Given the description of an element on the screen output the (x, y) to click on. 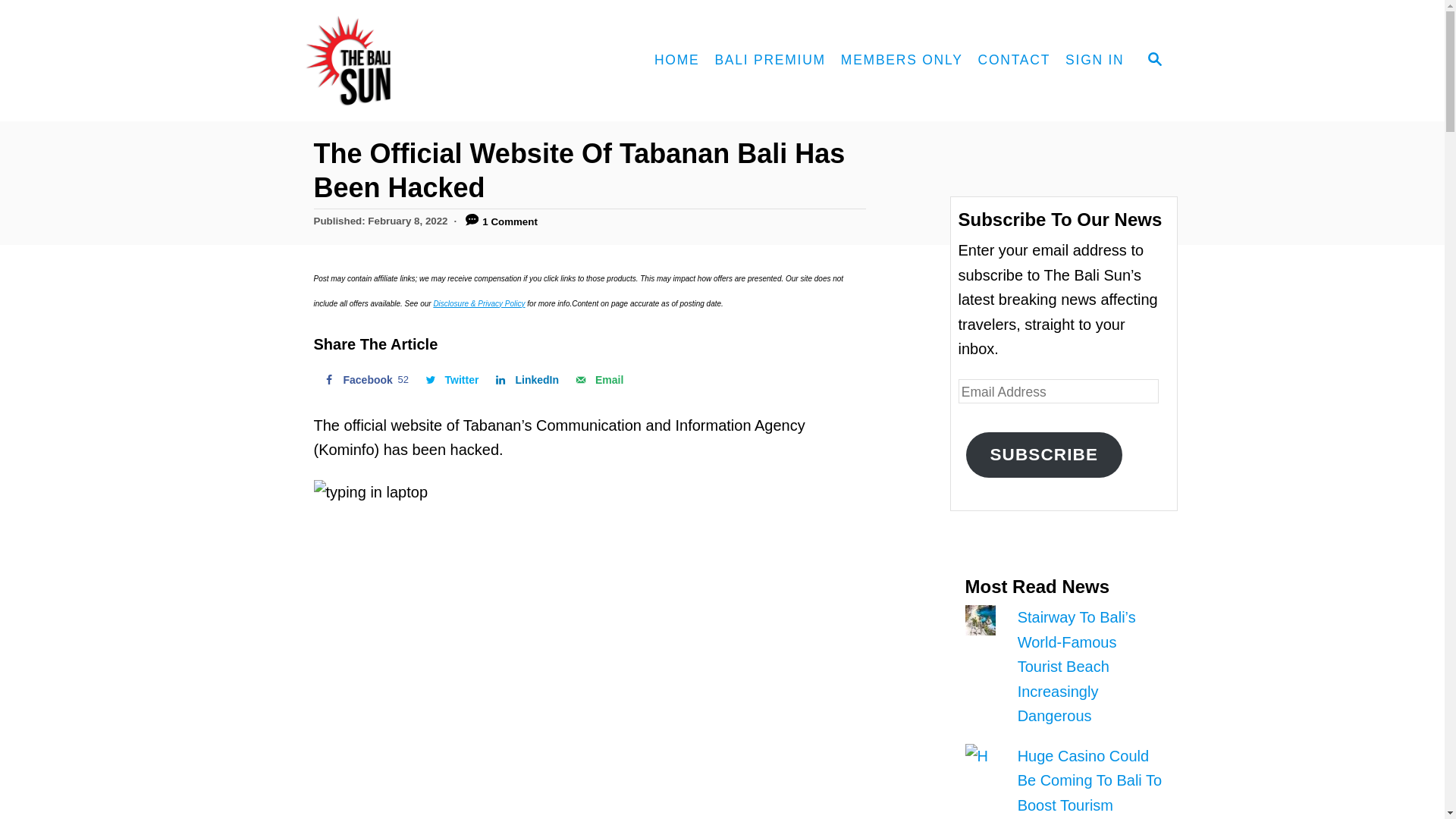
LinkedIn (525, 379)
Share on Facebook (364, 379)
MEMBERS ONLY (901, 60)
Share on LinkedIn (525, 379)
Share on Twitter (450, 379)
BALI PREMIUM (769, 60)
CONTACT (1014, 60)
SEARCH (1153, 60)
SIGN IN (1094, 60)
